Given the description of an element on the screen output the (x, y) to click on. 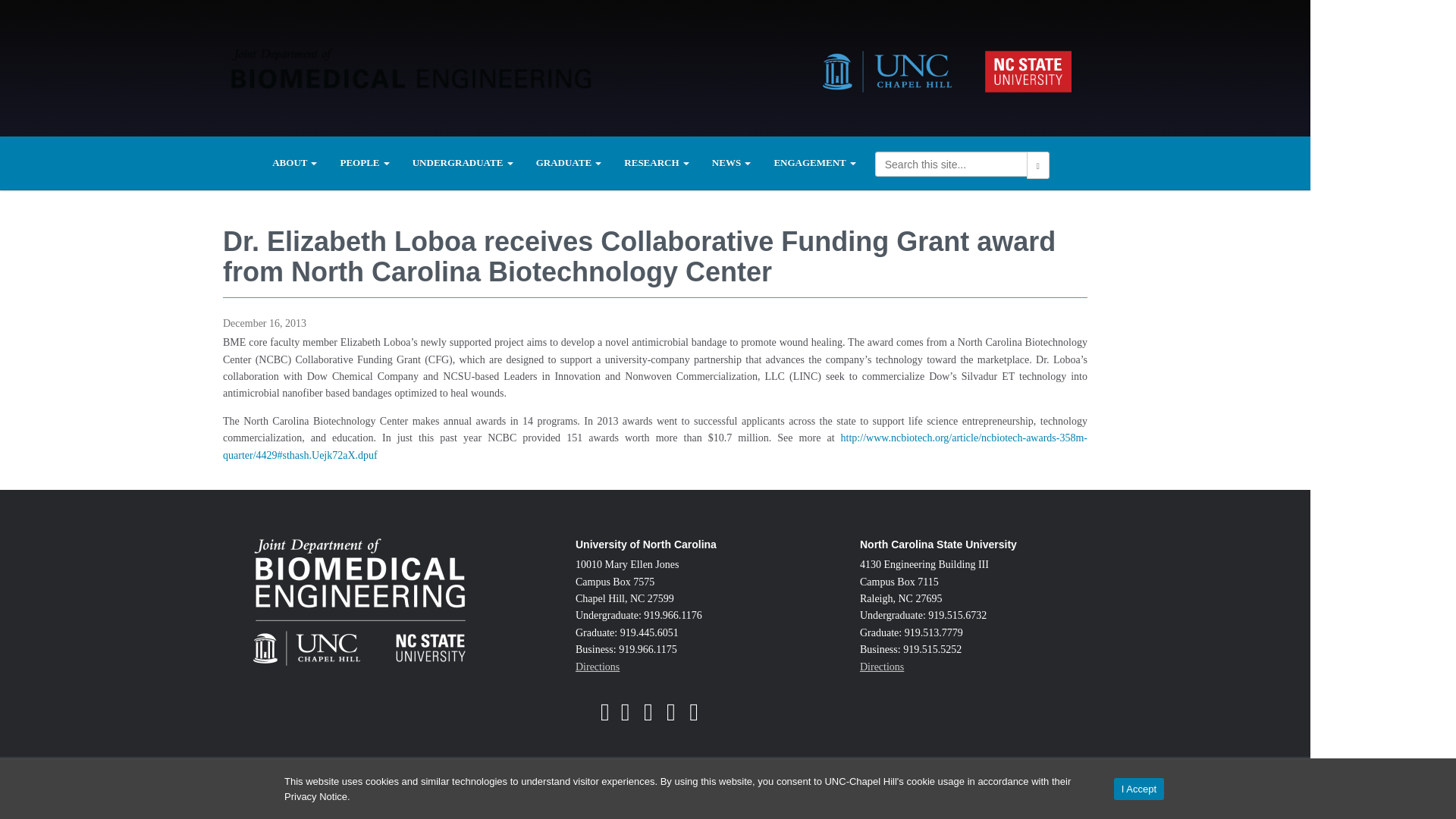
RESEARCH (656, 162)
jointbme (610, 716)
UNDERGRADUATE (462, 162)
jointbme (699, 716)
PEOPLE (364, 162)
jointbme (631, 716)
Privacy Notice (315, 795)
I Accept (1138, 789)
jointbme (676, 716)
Joint BME (410, 65)
ABOUT (294, 162)
jointbme (653, 716)
GRADUATE (568, 162)
